Given the description of an element on the screen output the (x, y) to click on. 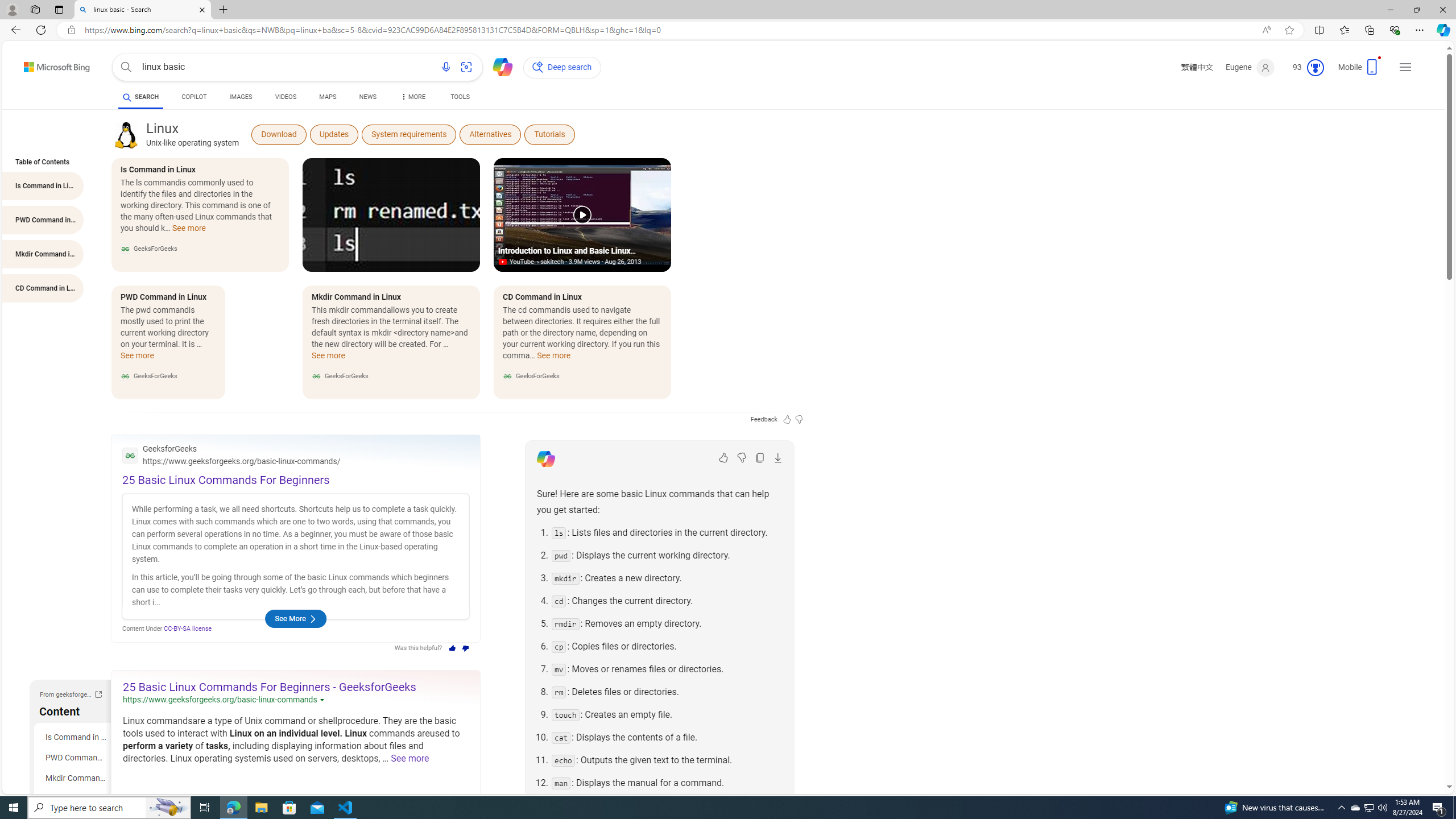
mv: Moves or renames files or directories. (666, 669)
IMAGES (240, 98)
rmdir: Removes an empty directory. (666, 623)
TOOLS (460, 98)
System requirements (409, 134)
Introduction to Linux and Basic Linux Commands for Beginners (582, 214)
Thumbs down (465, 648)
Dislike (741, 457)
Updates (333, 134)
